Given the description of an element on the screen output the (x, y) to click on. 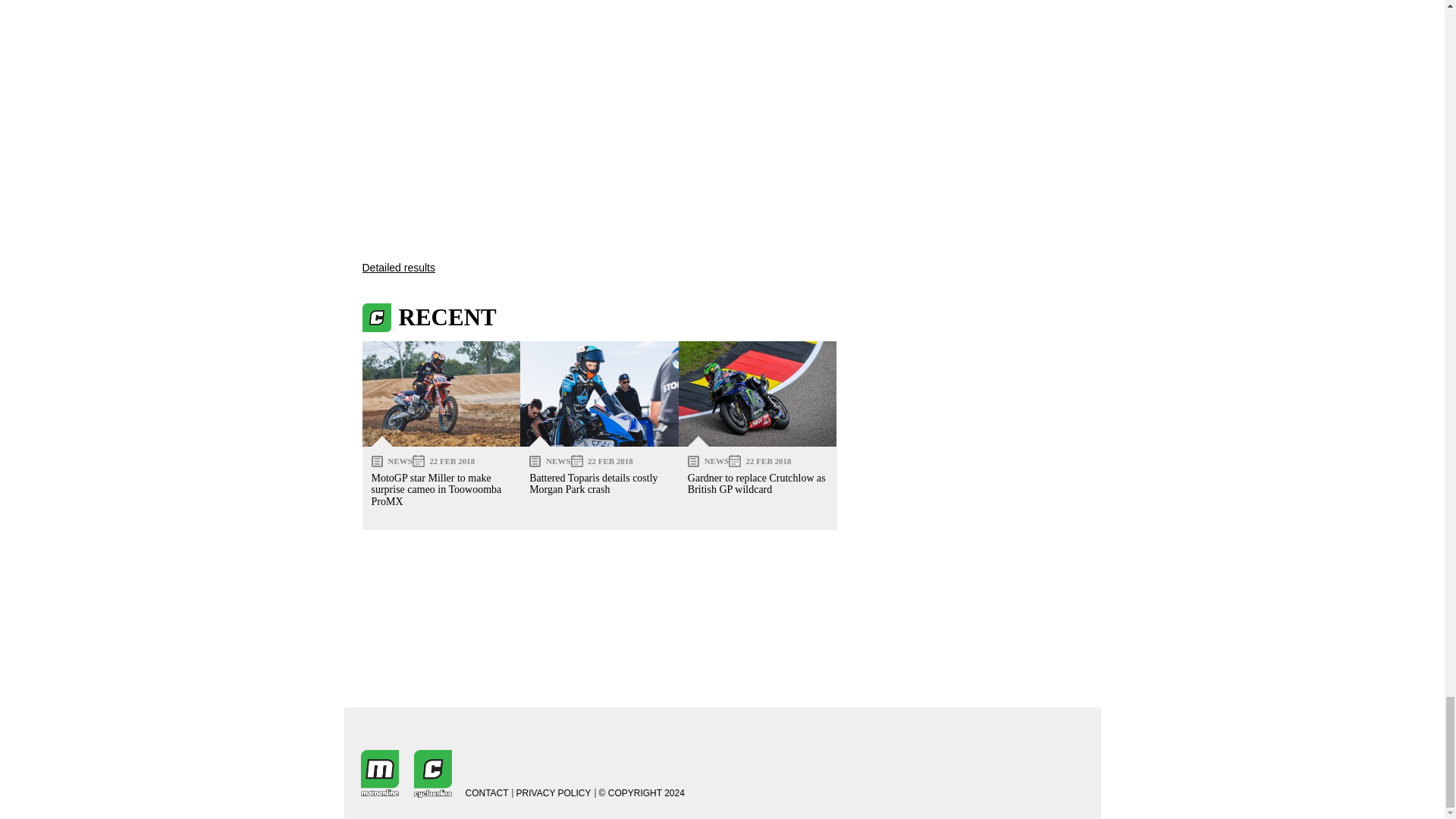
MotoGP star Miller to make surprise cameo in Toowoomba ProMX (441, 393)
Battered Toparis details costly Morgan Park crash (598, 393)
Gardner to replace Crutchlow as British GP wildcard (757, 393)
